Given the description of an element on the screen output the (x, y) to click on. 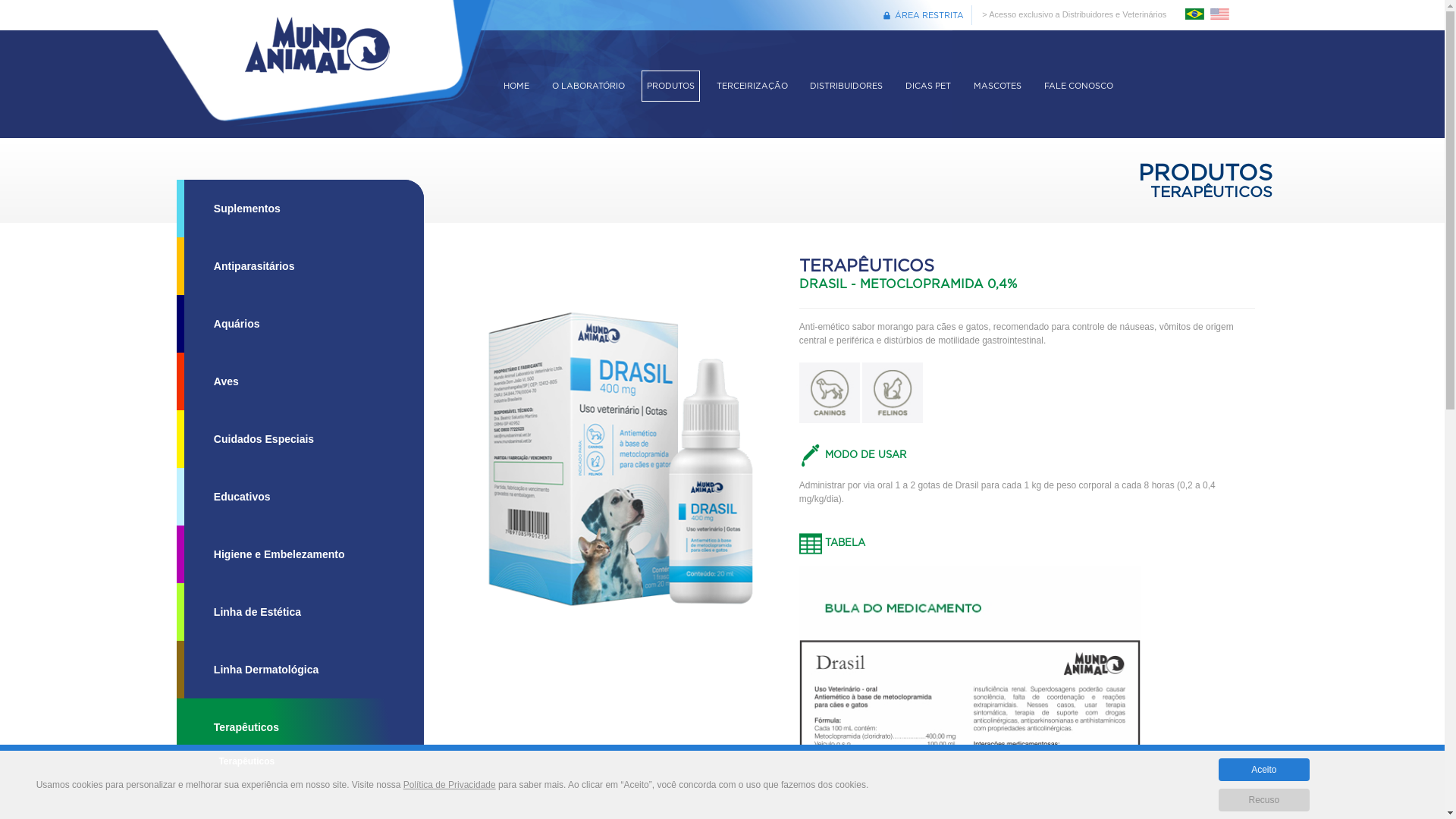
Cuidados Especiais Element type: text (299, 438)
HOME Element type: text (516, 85)
Recuso Element type: text (1263, 799)
Educativos Element type: text (299, 496)
Higiene e Embelezamento Element type: text (299, 554)
PRODUTOS Element type: text (670, 85)
Aves Element type: text (299, 381)
MASCOTES Element type: text (997, 85)
DICAS PET Element type: text (928, 85)
DISTRIBUIDORES Element type: text (845, 85)
Aceito Element type: text (1263, 769)
Mundo Animal Element type: hover (316, 70)
Suplementos Element type: text (299, 208)
English Element type: hover (1219, 16)
FALE CONOSCO Element type: text (1078, 85)
